Given the description of an element on the screen output the (x, y) to click on. 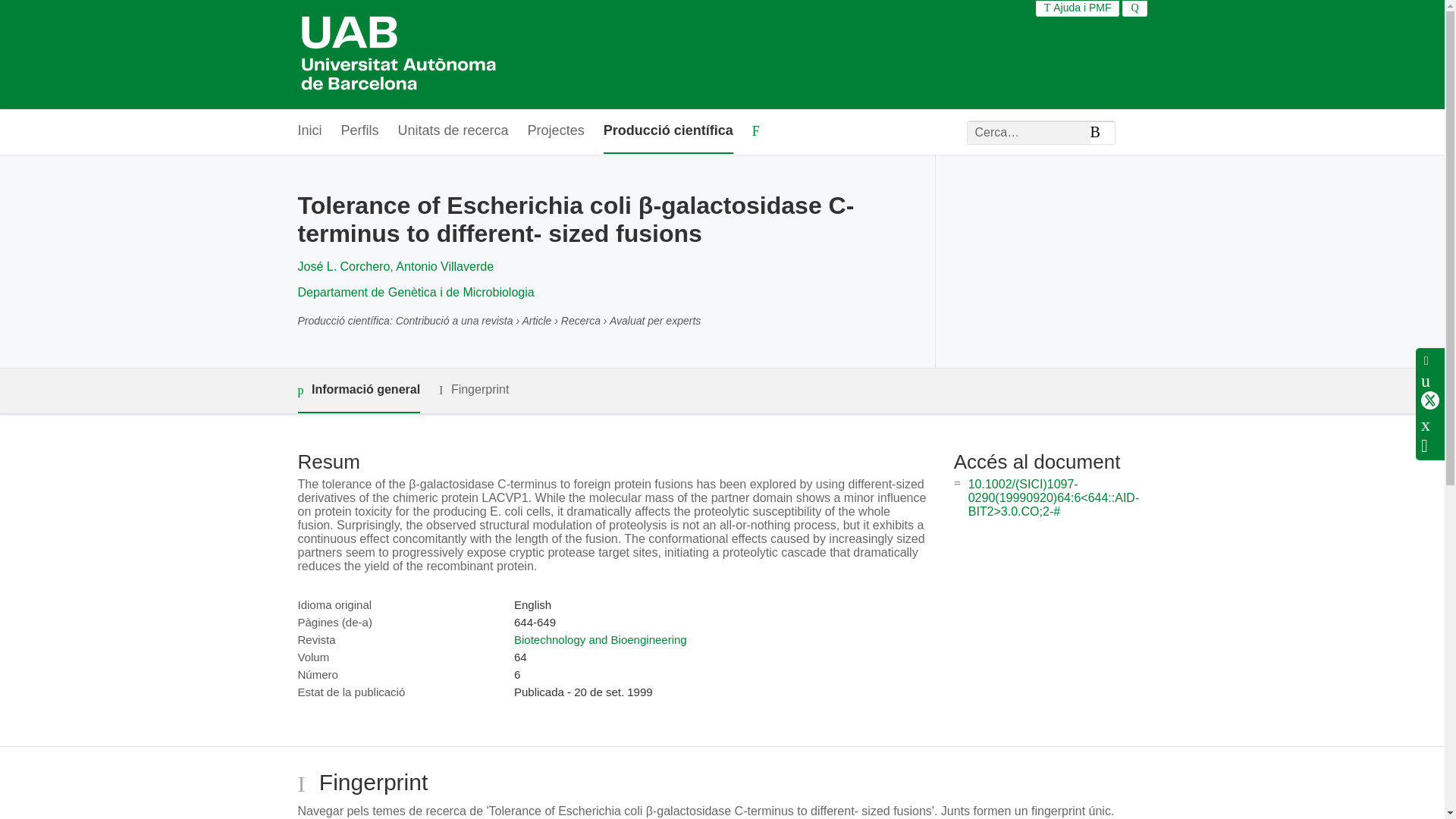
Fingerprint (473, 389)
Unitats de recerca (452, 130)
Ajuda i PMF (1077, 7)
Antonio Villaverde (444, 266)
Projectes (556, 130)
Biotechnology and Bioengineering (600, 639)
